Given the description of an element on the screen output the (x, y) to click on. 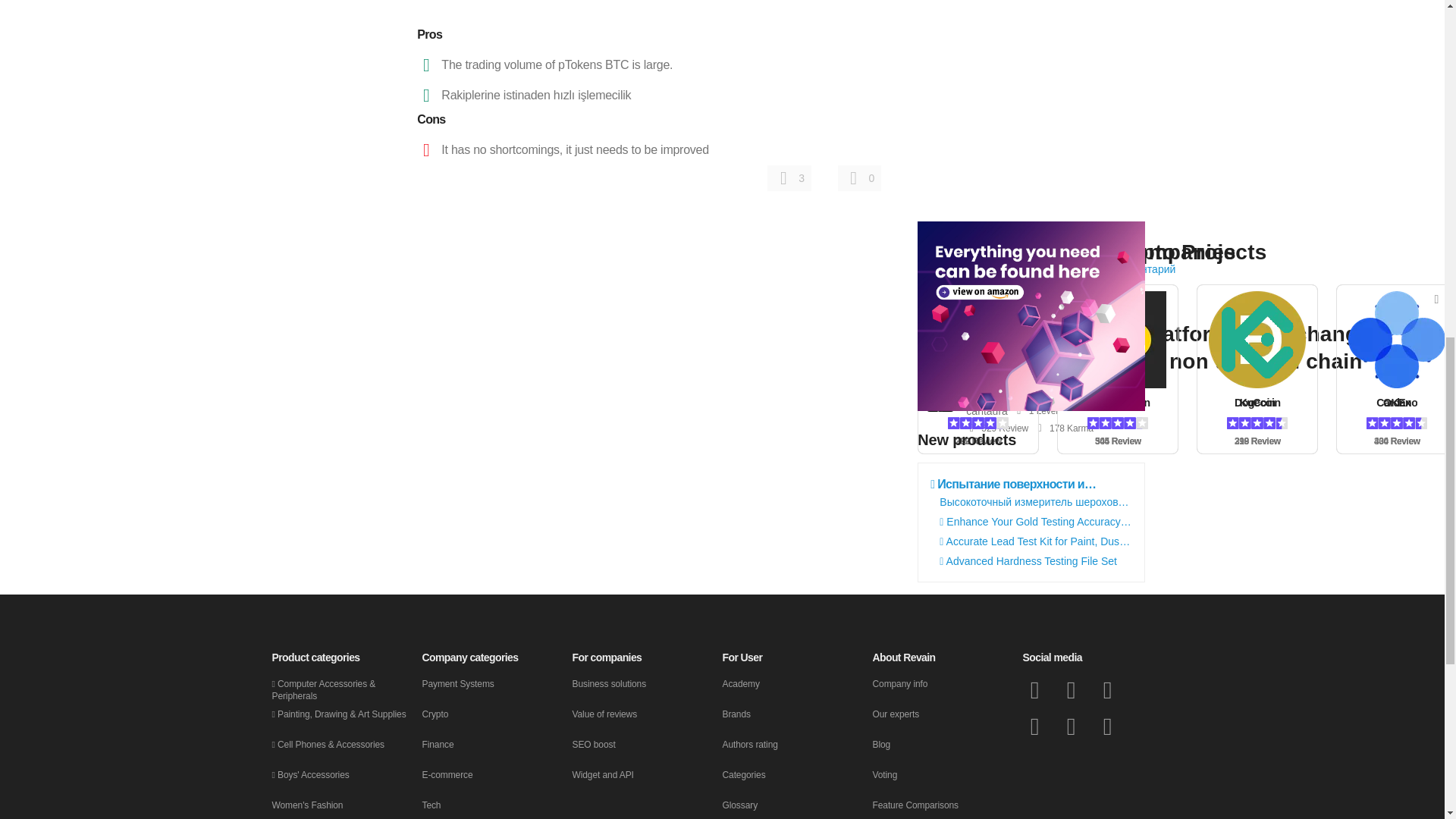
Revain Pinterest (1106, 726)
Revain Instagram (1070, 726)
Revain Telegram group (1106, 689)
Revain Twitter (1070, 689)
 3 (788, 177)
Revain Telegram channel (1034, 726)
 0 (860, 177)
Revain Facebook (1034, 689)
